Given the description of an element on the screen output the (x, y) to click on. 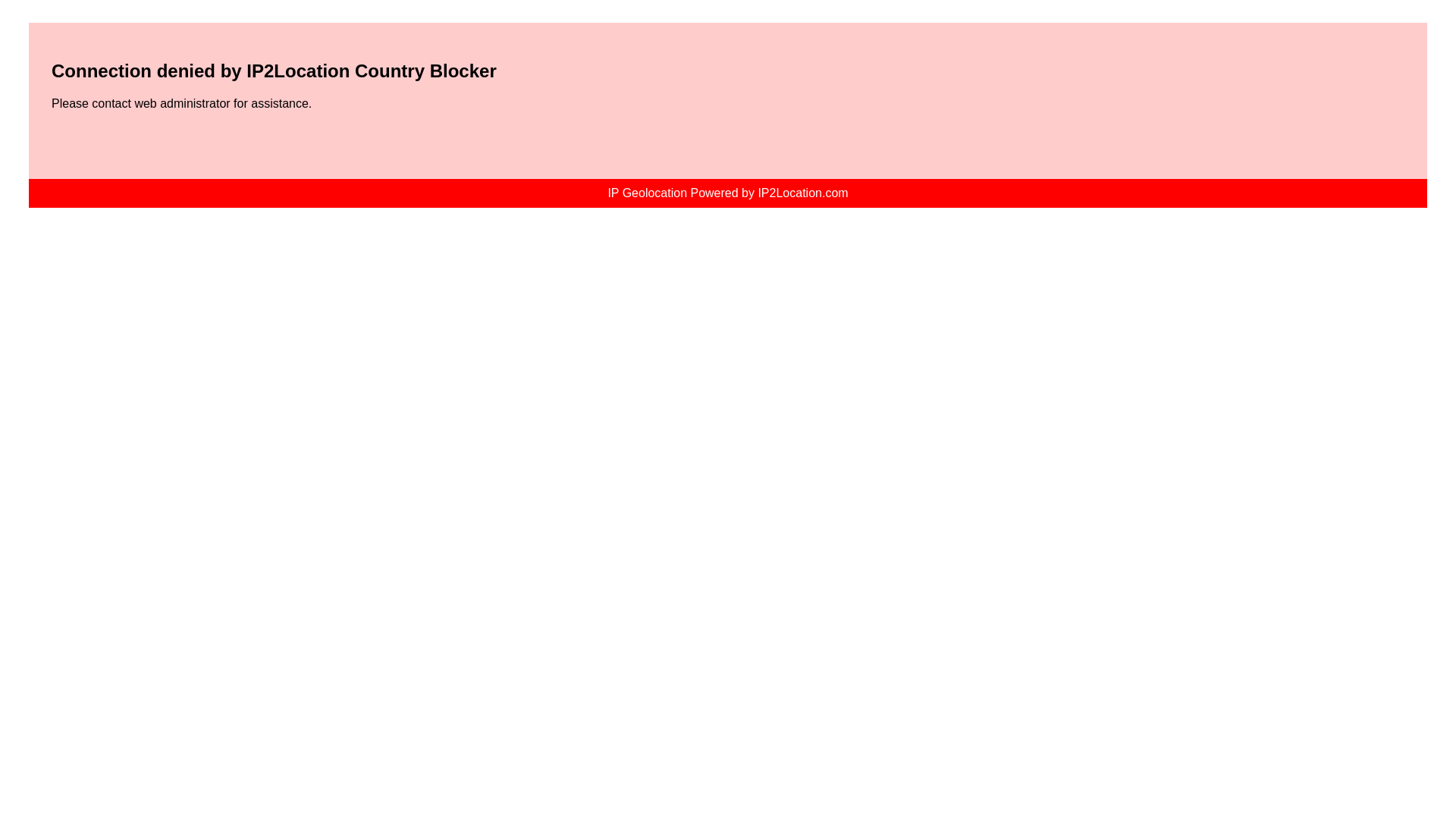
IP Geolocation Powered by IP2Location.com (727, 192)
